Given the description of an element on the screen output the (x, y) to click on. 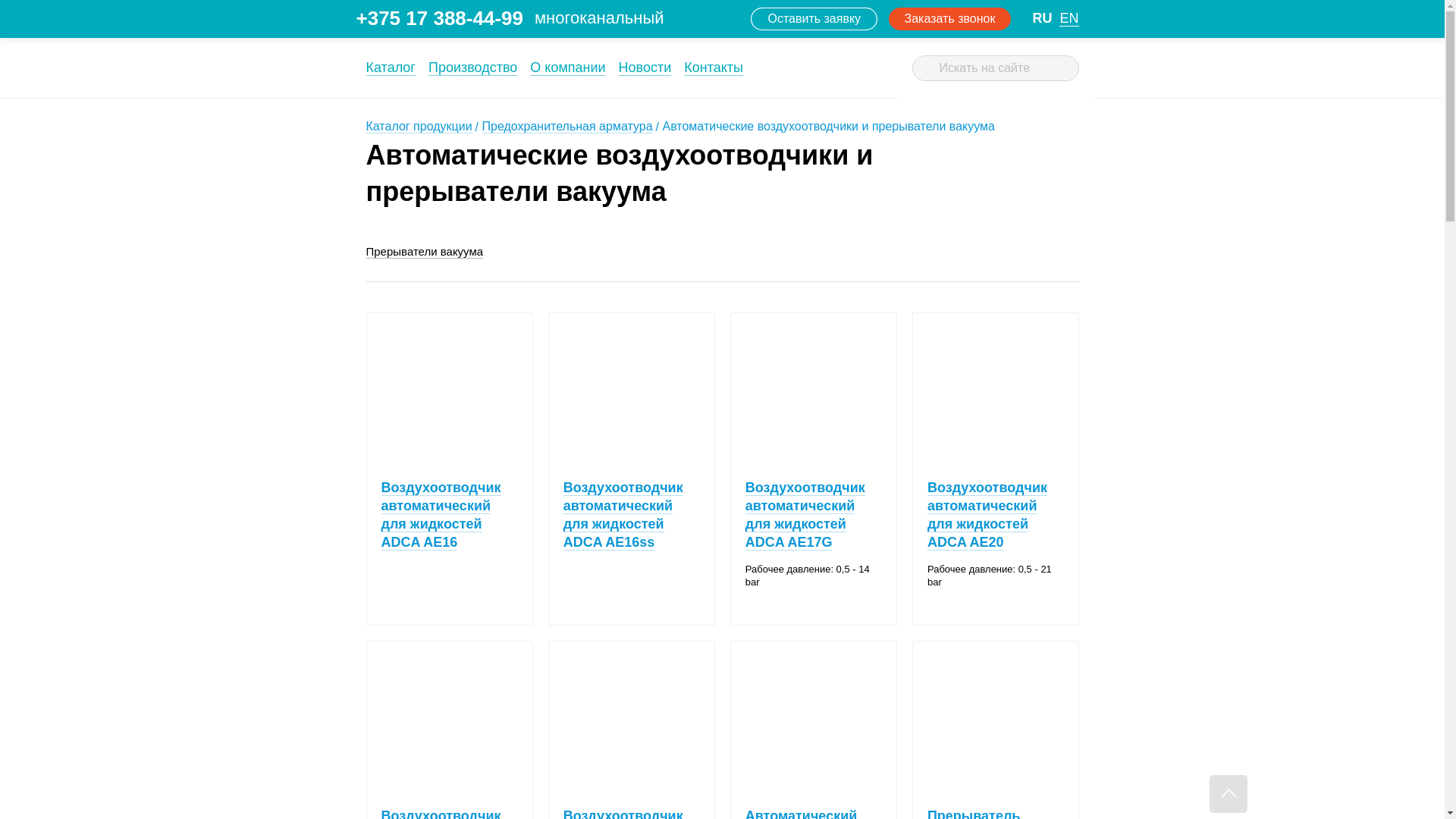
+375 17 388-44-99 Element type: text (439, 17)
RU Element type: text (1041, 18)
EN Element type: text (1068, 18)
